Given the description of an element on the screen output the (x, y) to click on. 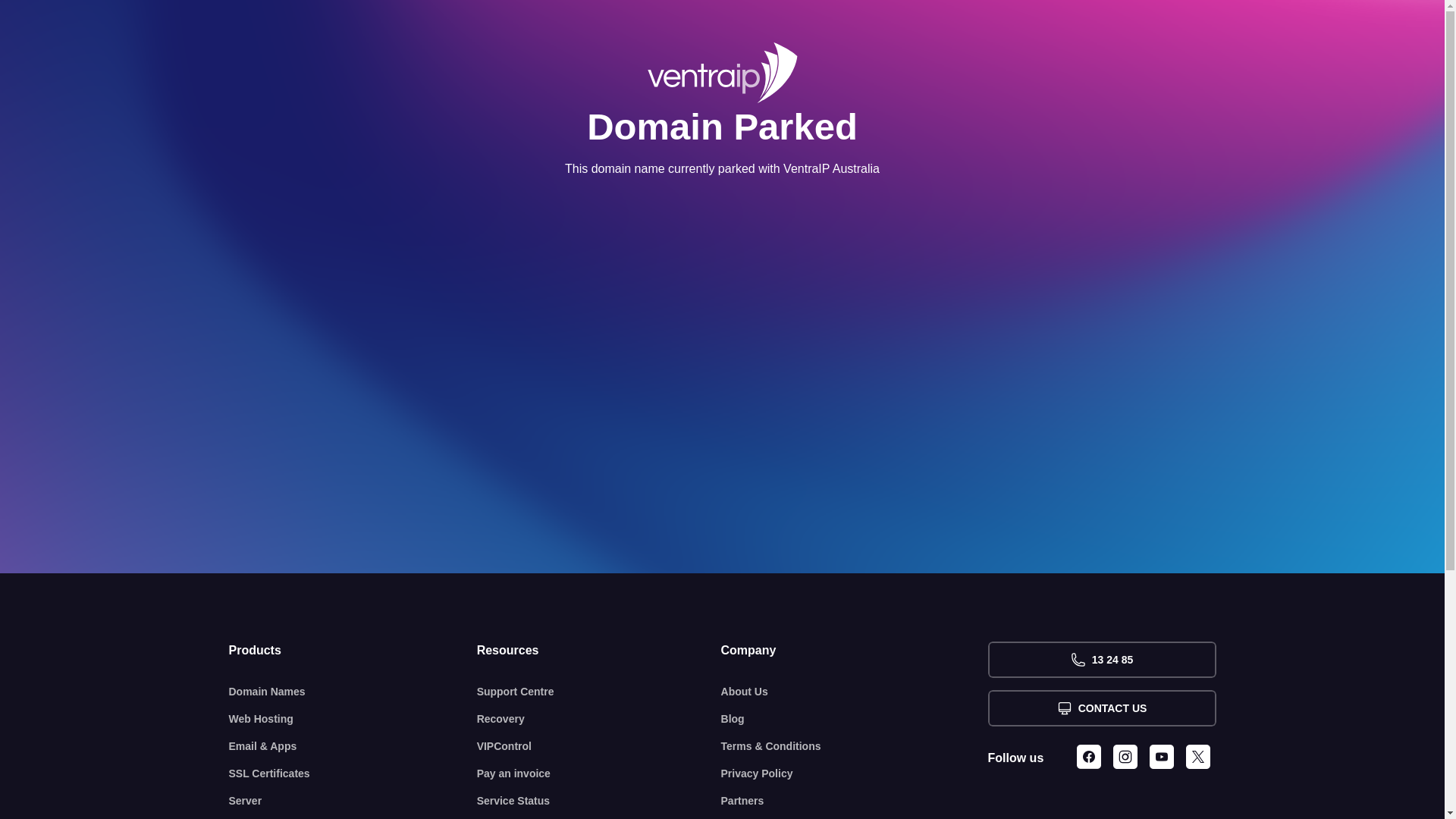
CONTACT US Element type: text (1101, 708)
Privacy Policy Element type: text (854, 773)
Recovery Element type: text (598, 718)
Pay an invoice Element type: text (598, 773)
SSL Certificates Element type: text (352, 773)
Email & Apps Element type: text (352, 745)
Support Centre Element type: text (598, 691)
Blog Element type: text (854, 718)
Terms & Conditions Element type: text (854, 745)
Service Status Element type: text (598, 800)
VIPControl Element type: text (598, 745)
About Us Element type: text (854, 691)
Web Hosting Element type: text (352, 718)
Domain Names Element type: text (352, 691)
13 24 85 Element type: text (1101, 659)
Server Element type: text (352, 800)
Partners Element type: text (854, 800)
